Given the description of an element on the screen output the (x, y) to click on. 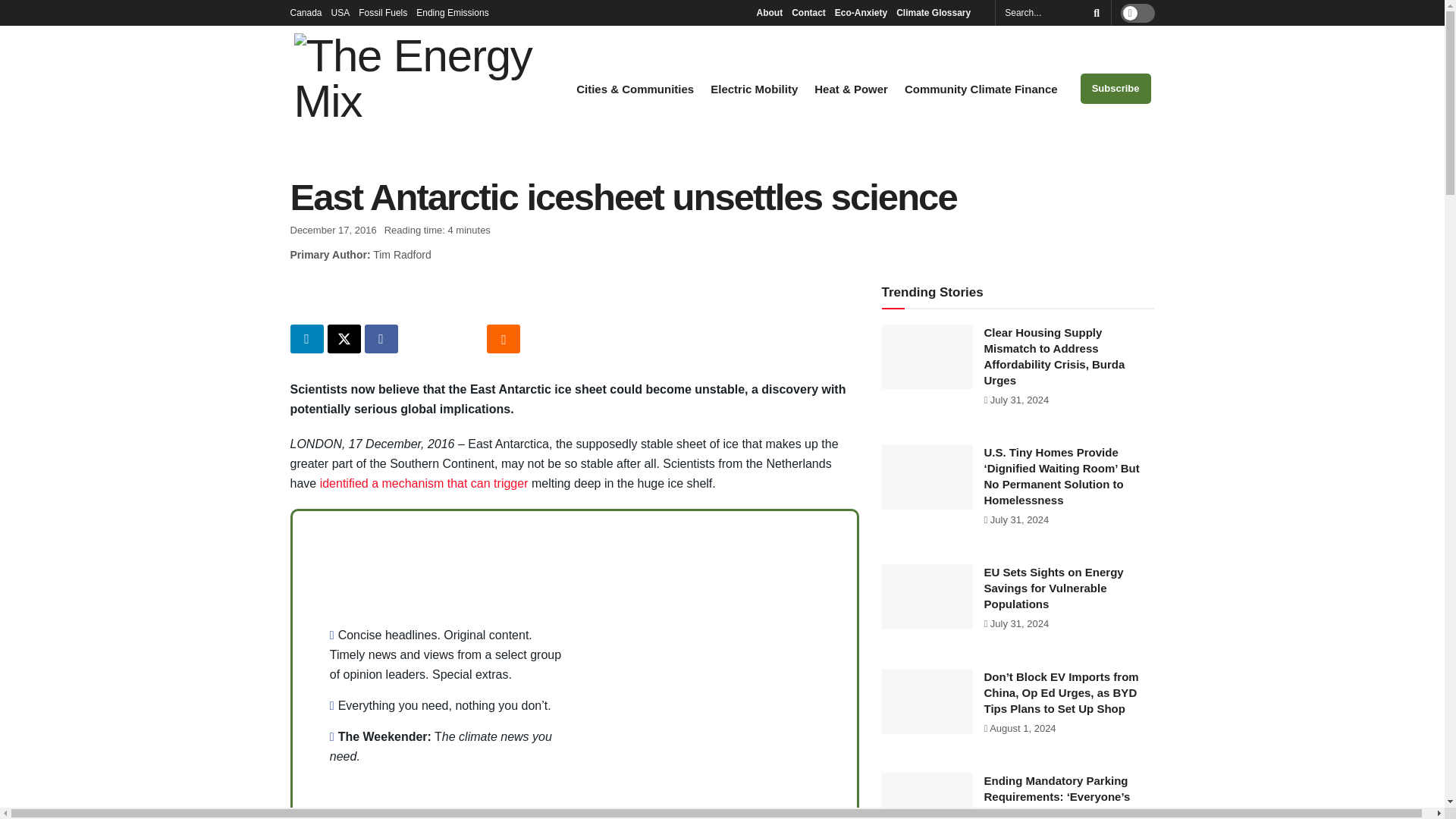
Ending Emissions (456, 12)
Subscribe (1115, 88)
SUBSCRIBE (714, 817)
identified a mechanism that can trigger (424, 482)
TEM-WeekenderDark (714, 663)
Electric Mobility (753, 89)
Subscribe (714, 817)
Contact (808, 12)
Climate Glossary (937, 12)
Community Climate Finance (981, 89)
About (769, 12)
Canada (305, 12)
December 17, 2016 (332, 229)
Eco-Anxiety (860, 12)
Fossil Fuels (382, 12)
